Given the description of an element on the screen output the (x, y) to click on. 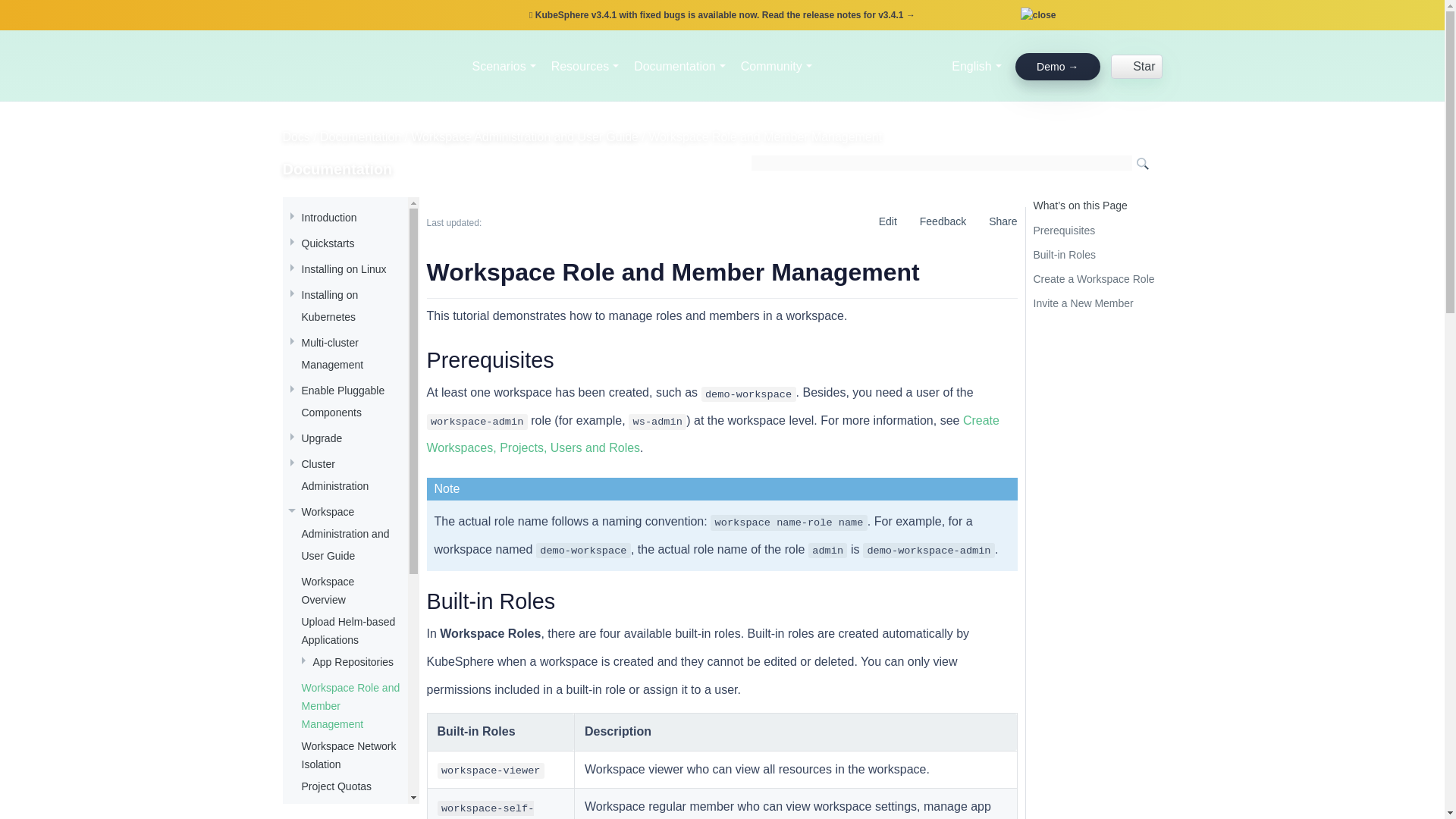
 Star (1136, 65)
